Given the description of an element on the screen output the (x, y) to click on. 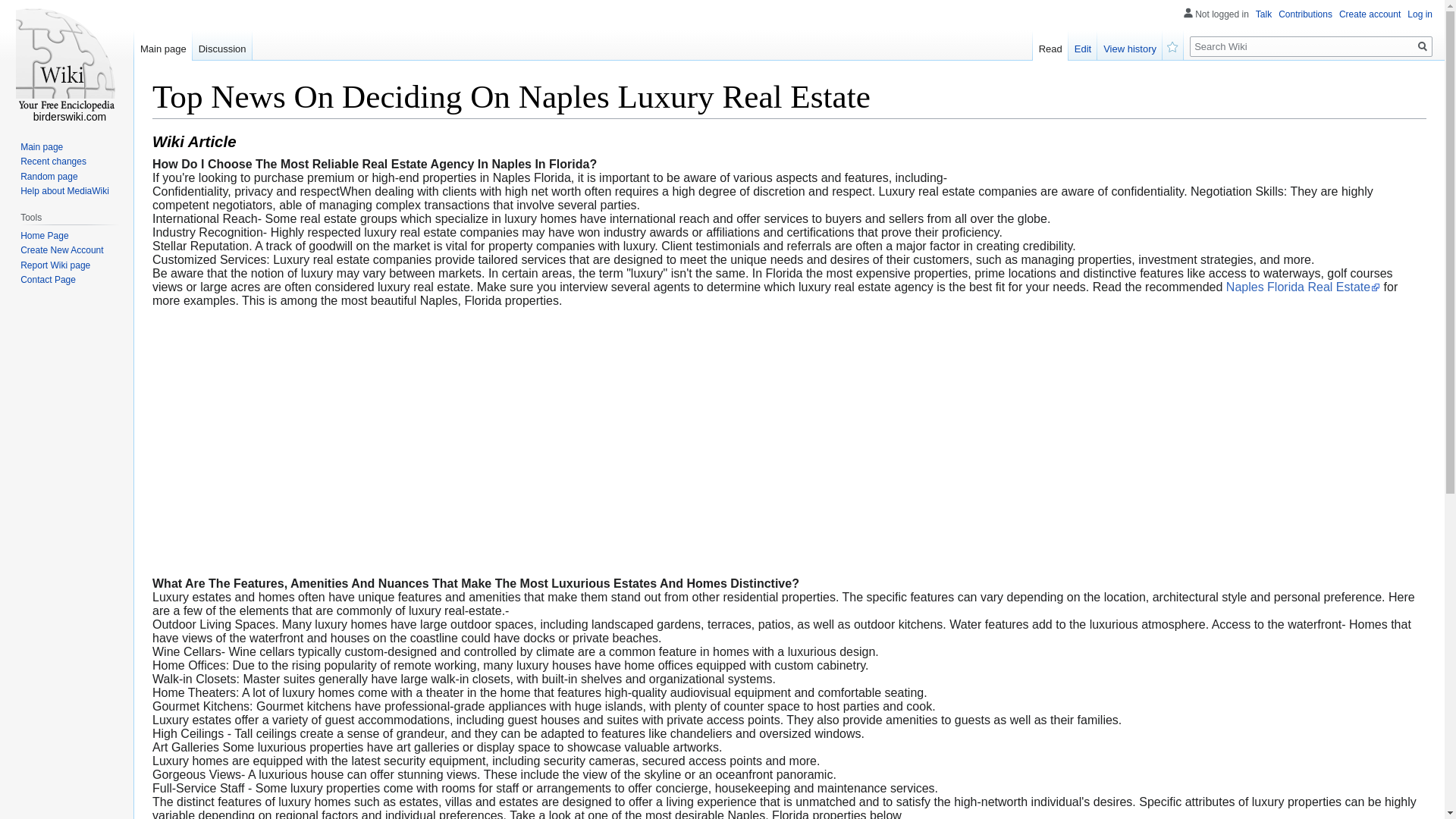
Talk (1263, 14)
Search pages for this text (1422, 46)
Random page (48, 176)
Log in (1419, 14)
Search (1422, 46)
Recent changes (52, 161)
Search (1422, 46)
Create New Account (61, 249)
Read (1050, 45)
Contact Page (47, 279)
Create account (1369, 14)
Go (1422, 46)
Main page (41, 146)
Report Wiki page (55, 265)
Discussion (221, 45)
